Given the description of an element on the screen output the (x, y) to click on. 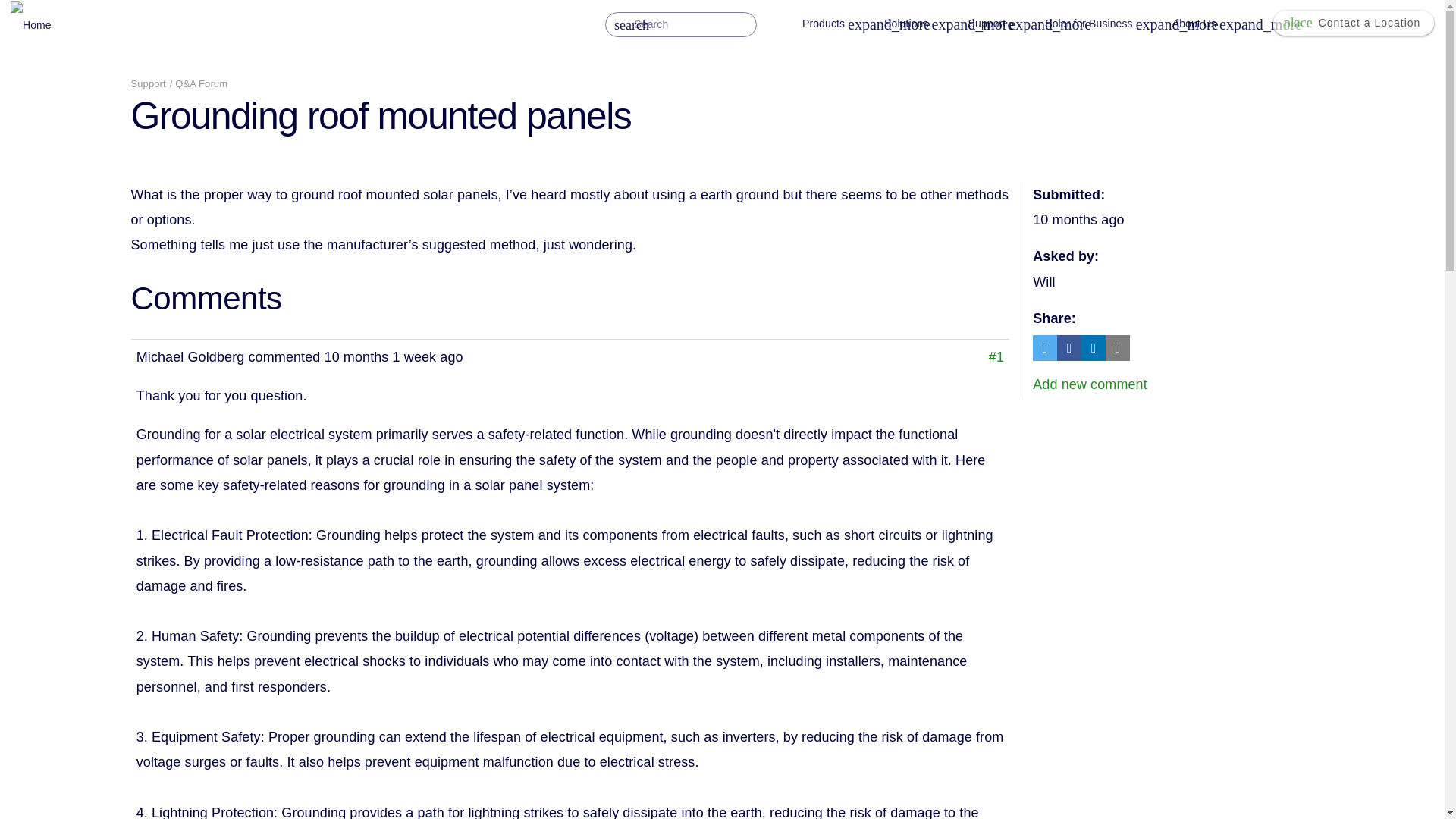
Twitter (1044, 347)
Facebook (1069, 347)
Solar for Business (1107, 24)
Support (1005, 24)
Products (841, 24)
Solutions (923, 24)
Linked in (1093, 347)
About Us (1212, 24)
